Given the description of an element on the screen output the (x, y) to click on. 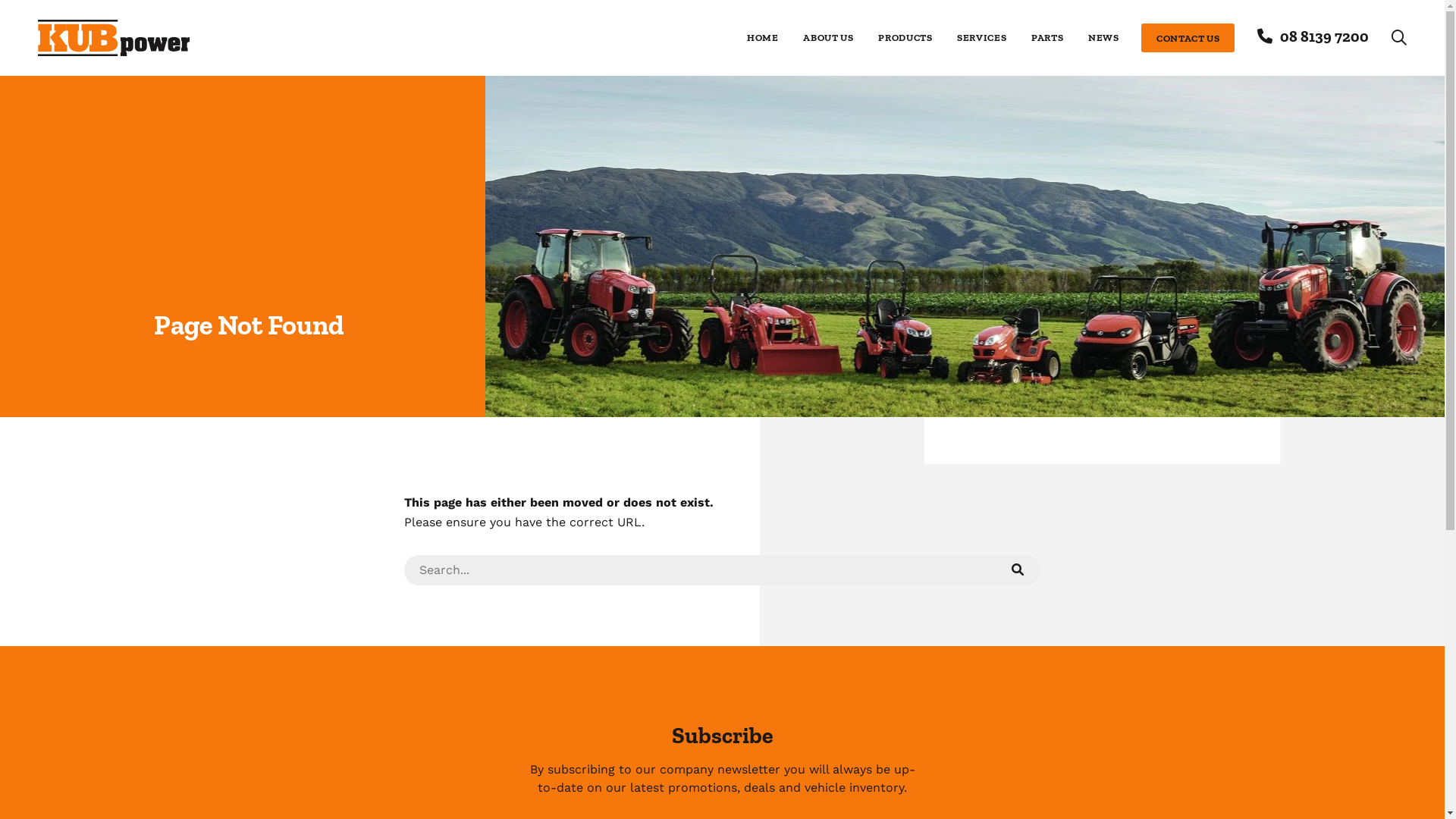
CONTACT US Element type: text (1187, 37)
SERVICES Element type: text (981, 37)
PARTS Element type: text (1047, 37)
08 8139 7200 Element type: text (1312, 35)
HOME Element type: text (762, 37)
PRODUCTS Element type: text (904, 37)
NEWS Element type: text (1103, 37)
ABOUT US Element type: text (828, 37)
